Given the description of an element on the screen output the (x, y) to click on. 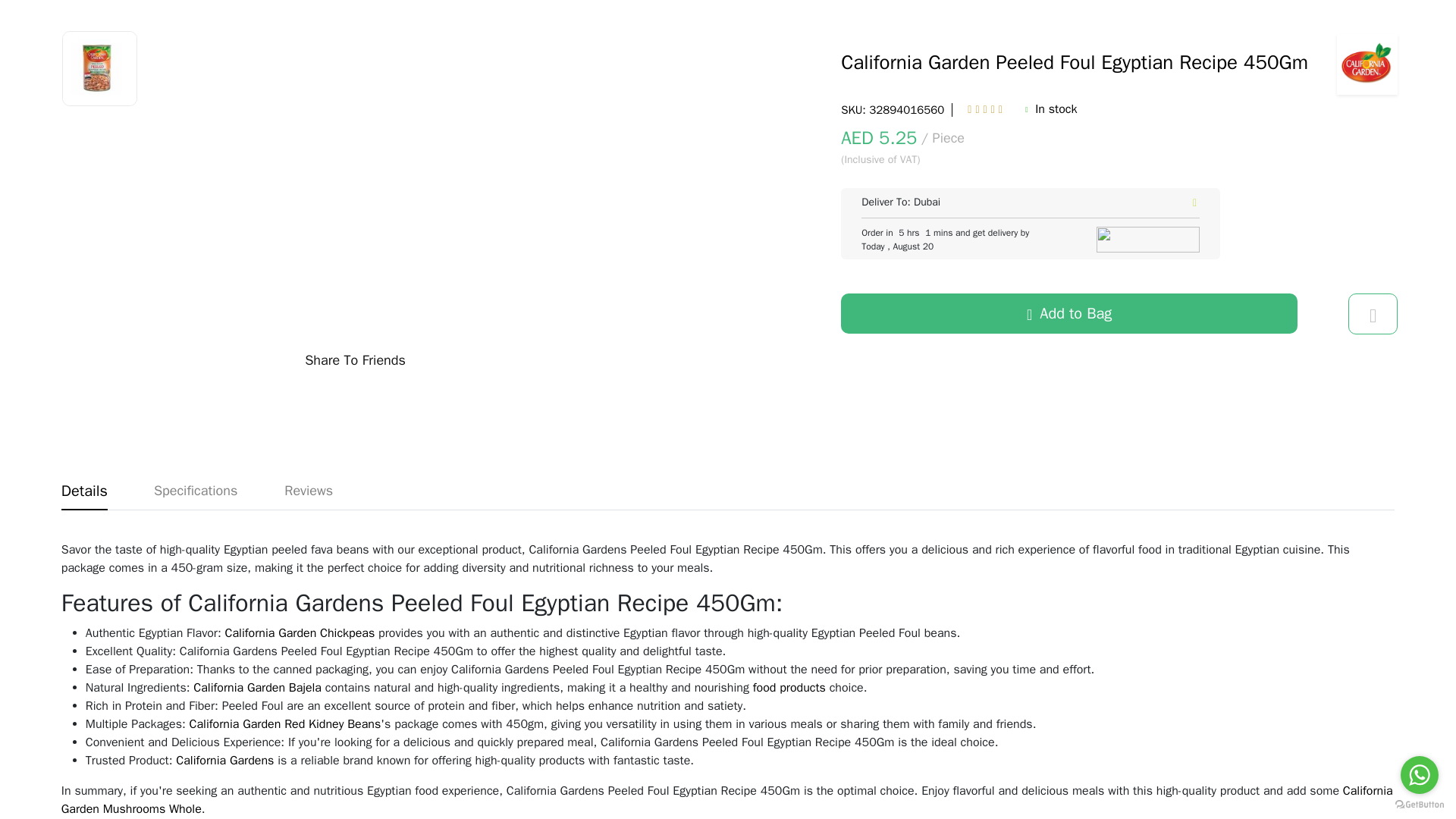
California Garden Chickpeas (300, 632)
Details (84, 492)
food products (788, 687)
California Garden Red Kidney Beans (285, 724)
Reviews (308, 490)
Add to Bag (1069, 313)
California Garden Bajela (257, 687)
Specifications (195, 490)
California Garden Mushrooms Whole (727, 799)
California Gardens (224, 760)
